Given the description of an element on the screen output the (x, y) to click on. 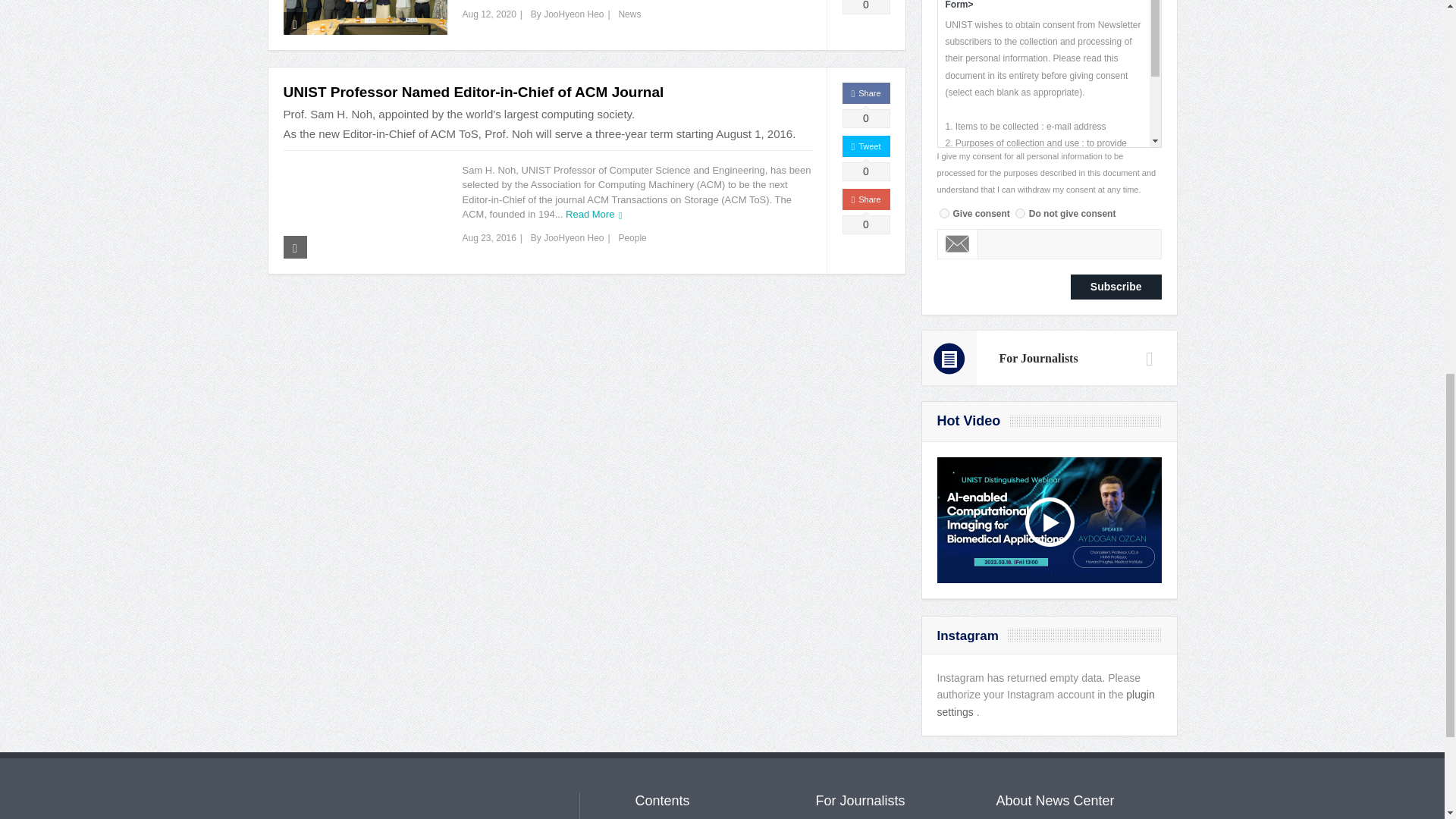
agree (944, 213)
Subscribe (1115, 286)
